Given the description of an element on the screen output the (x, y) to click on. 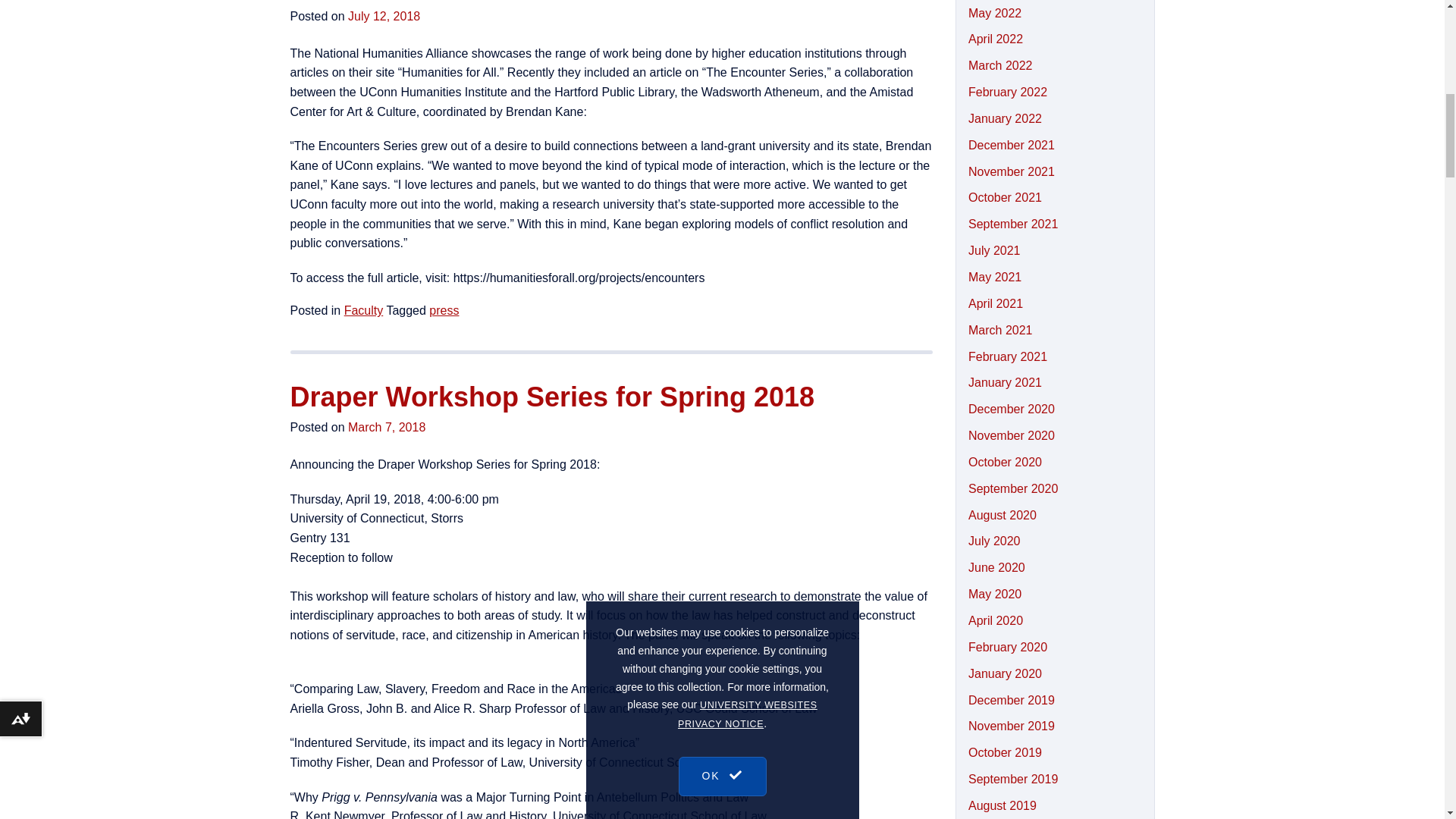
OK (721, 118)
UNIVERSITY WEBSITES PRIVACY NOTICE (747, 71)
